Given the description of an element on the screen output the (x, y) to click on. 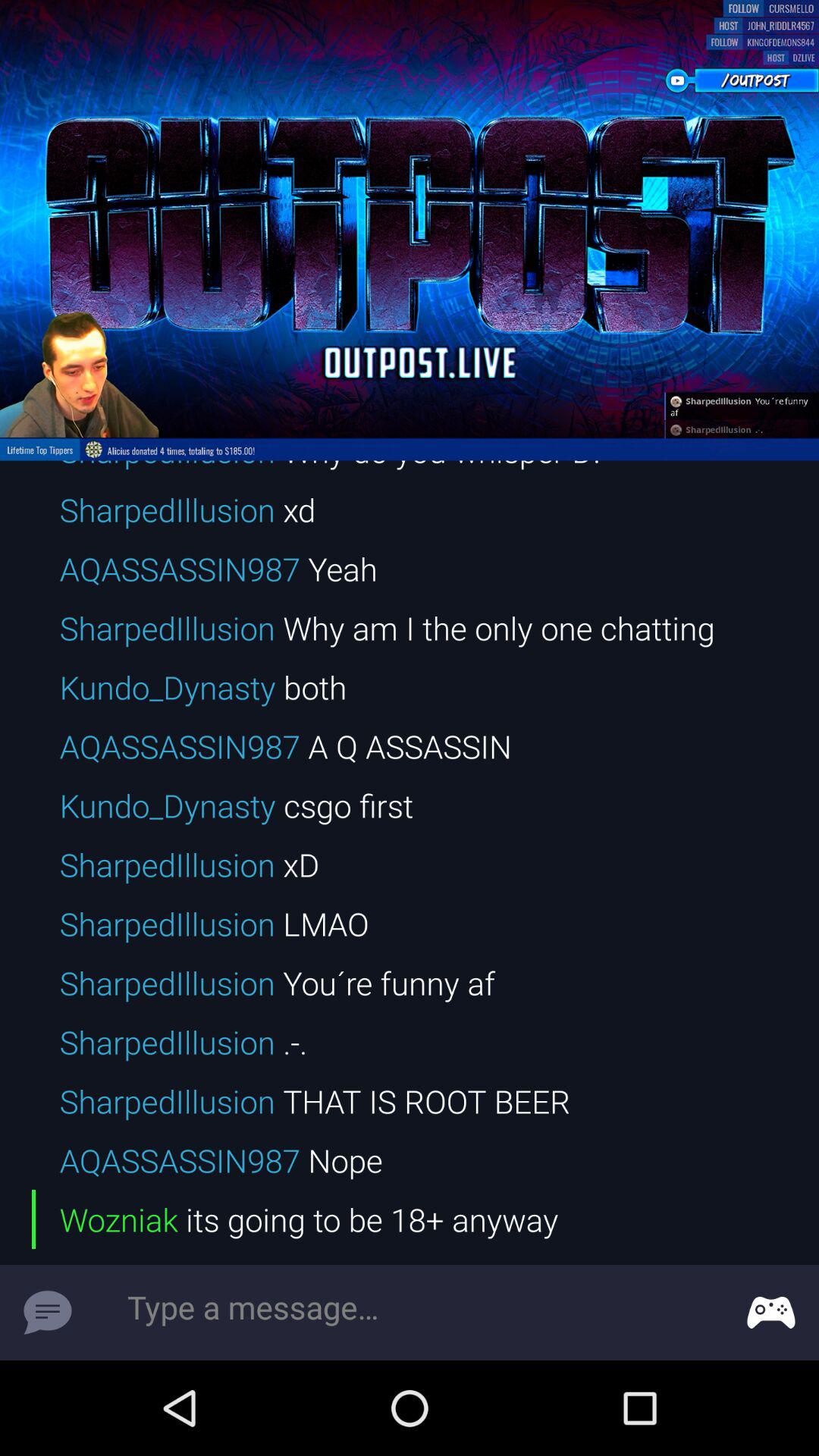
message box (409, 1312)
